Given the description of an element on the screen output the (x, y) to click on. 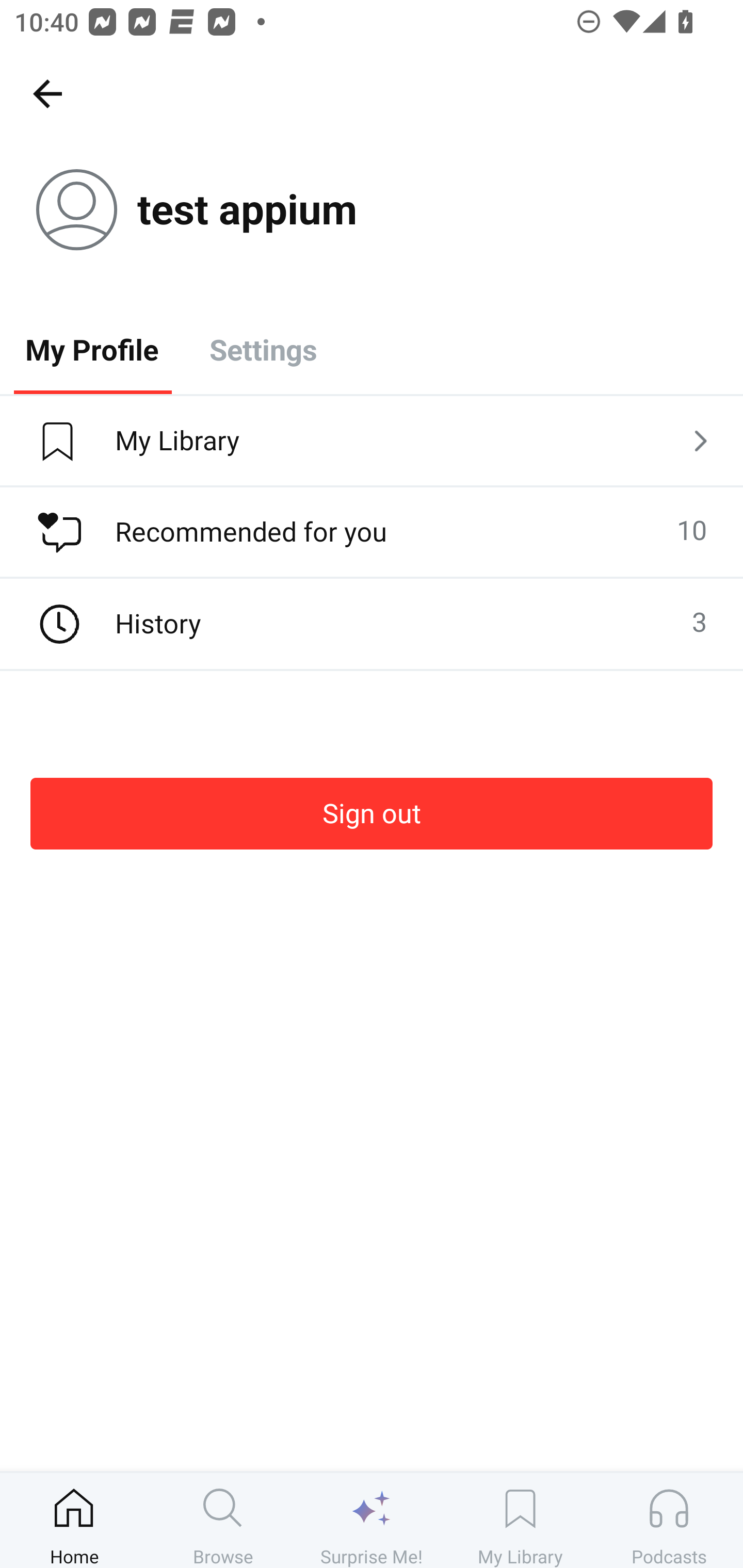
Home, back (47, 92)
My Profile (92, 348)
Settings (263, 348)
My Library (371, 441)
Recommended for you 10 (371, 532)
History 3 (371, 623)
Sign out (371, 813)
Home (74, 1520)
Browse (222, 1520)
Surprise Me! (371, 1520)
My Library (519, 1520)
Podcasts (668, 1520)
